Given the description of an element on the screen output the (x, y) to click on. 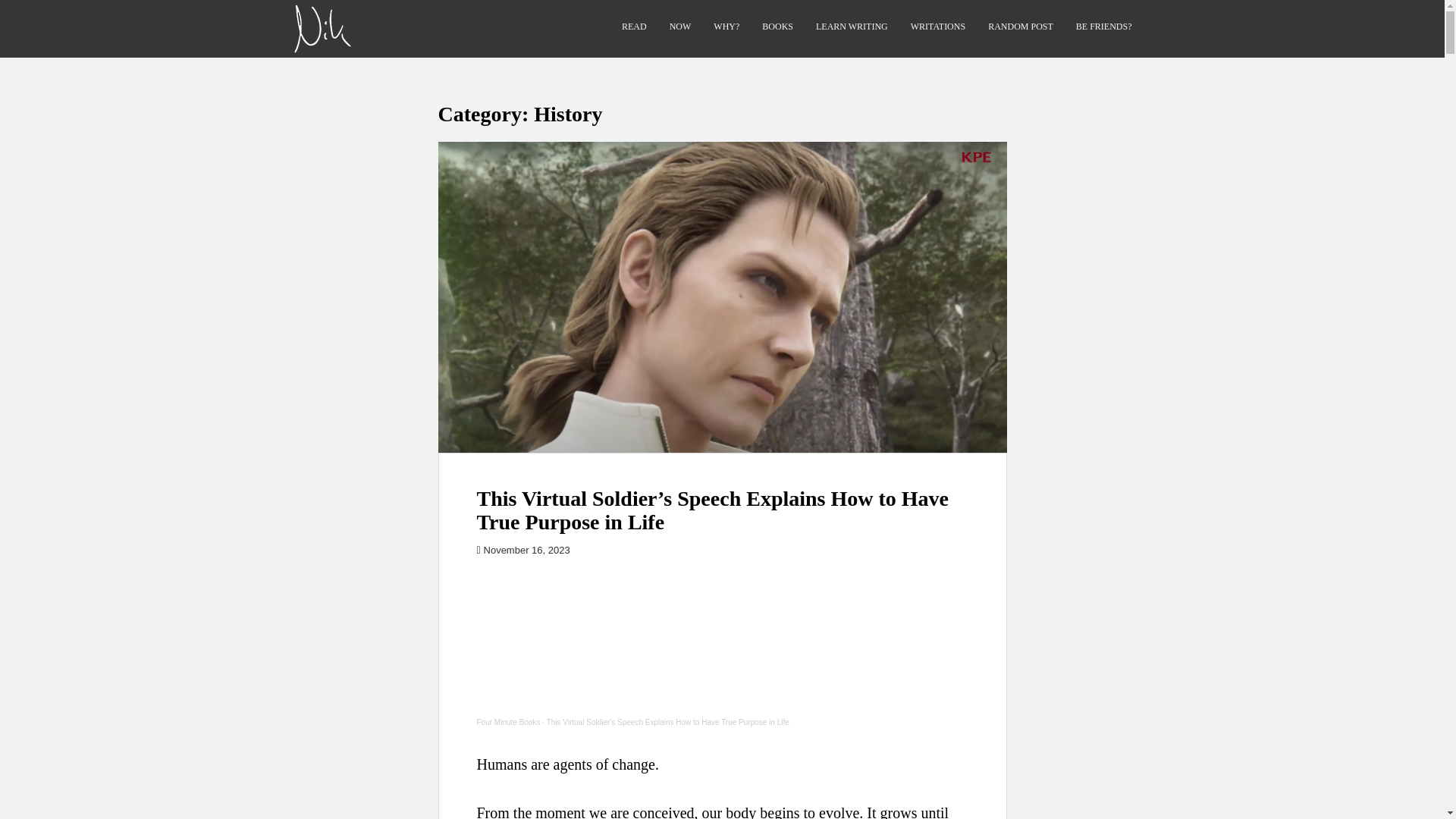
BE FRIENDS? (1103, 26)
Four Minute Books (508, 722)
WRITATIONS (938, 26)
Four Minute Books (508, 722)
RANDOM POST (1020, 26)
LEARN WRITING (851, 26)
BOOKS (777, 26)
November 16, 2023 (526, 550)
